Given the description of an element on the screen output the (x, y) to click on. 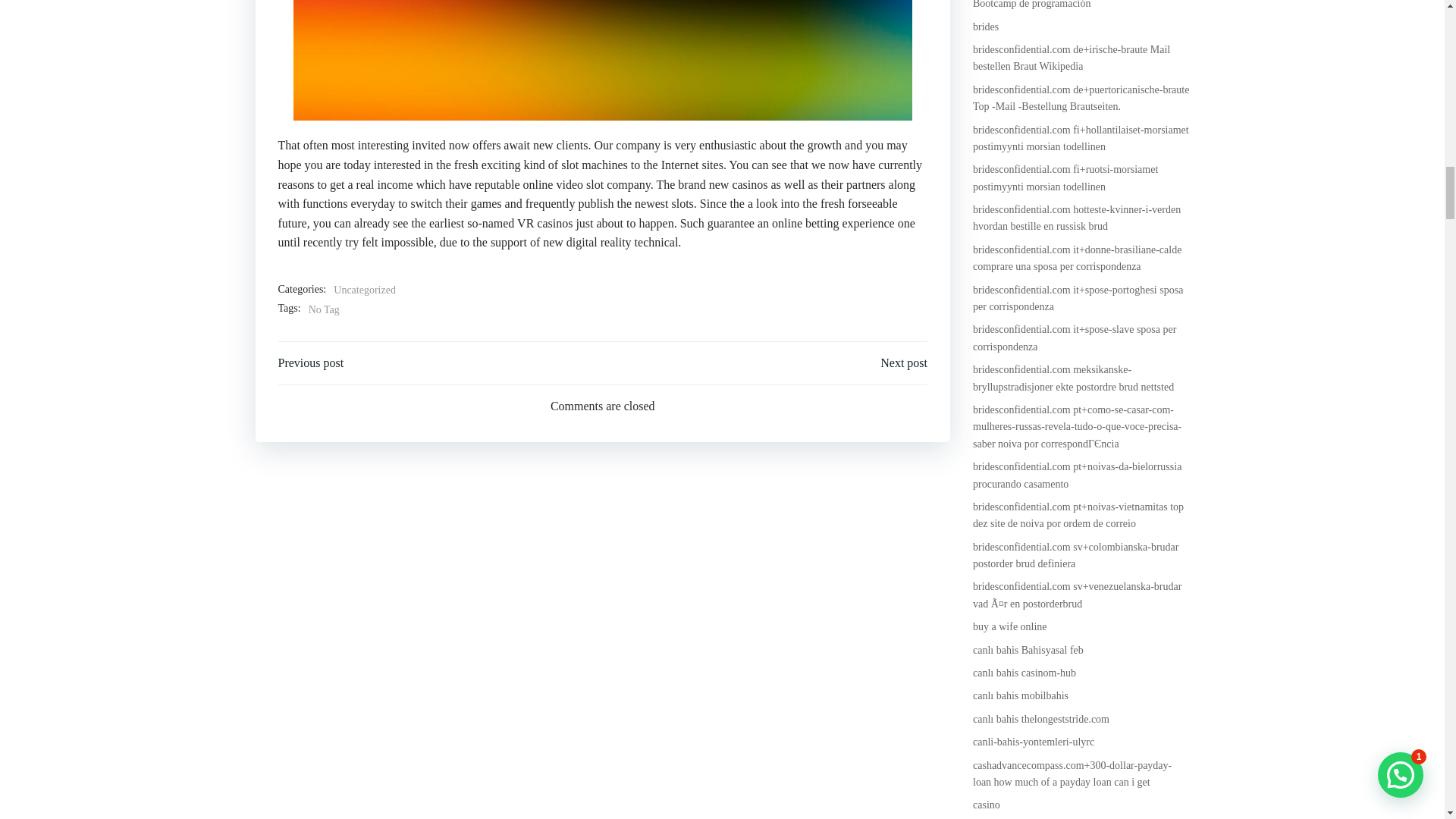
Uncategorized (364, 289)
Previous post (310, 362)
Next post (903, 362)
